Given the description of an element on the screen output the (x, y) to click on. 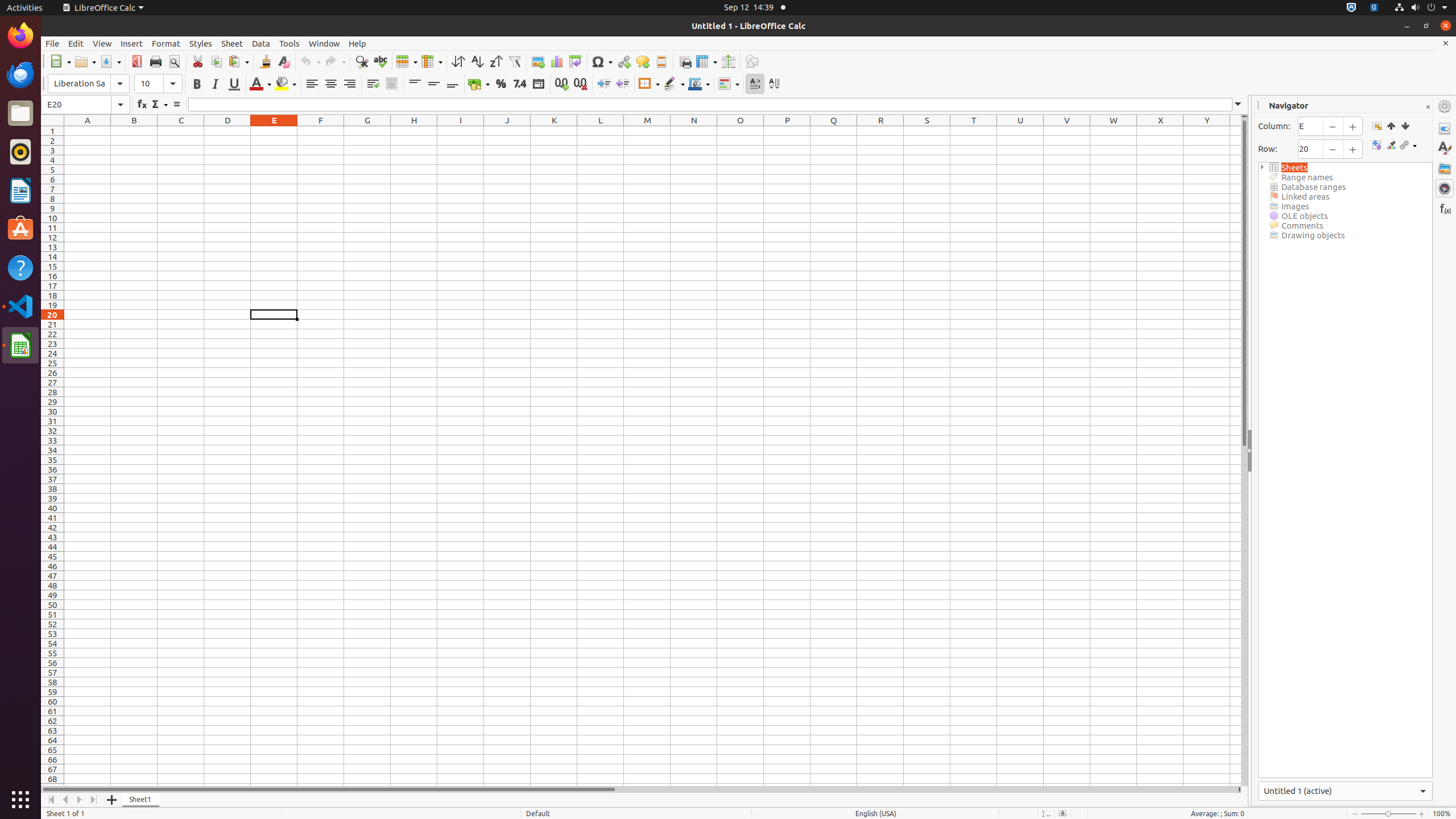
Center Vertically Element type: push-button (433, 83)
Styles Element type: menu (200, 43)
Print Preview Element type: toggle-button (173, 61)
Font Size Element type: combo-box (158, 83)
G1 Element type: table-cell (367, 130)
